Given the description of an element on the screen output the (x, y) to click on. 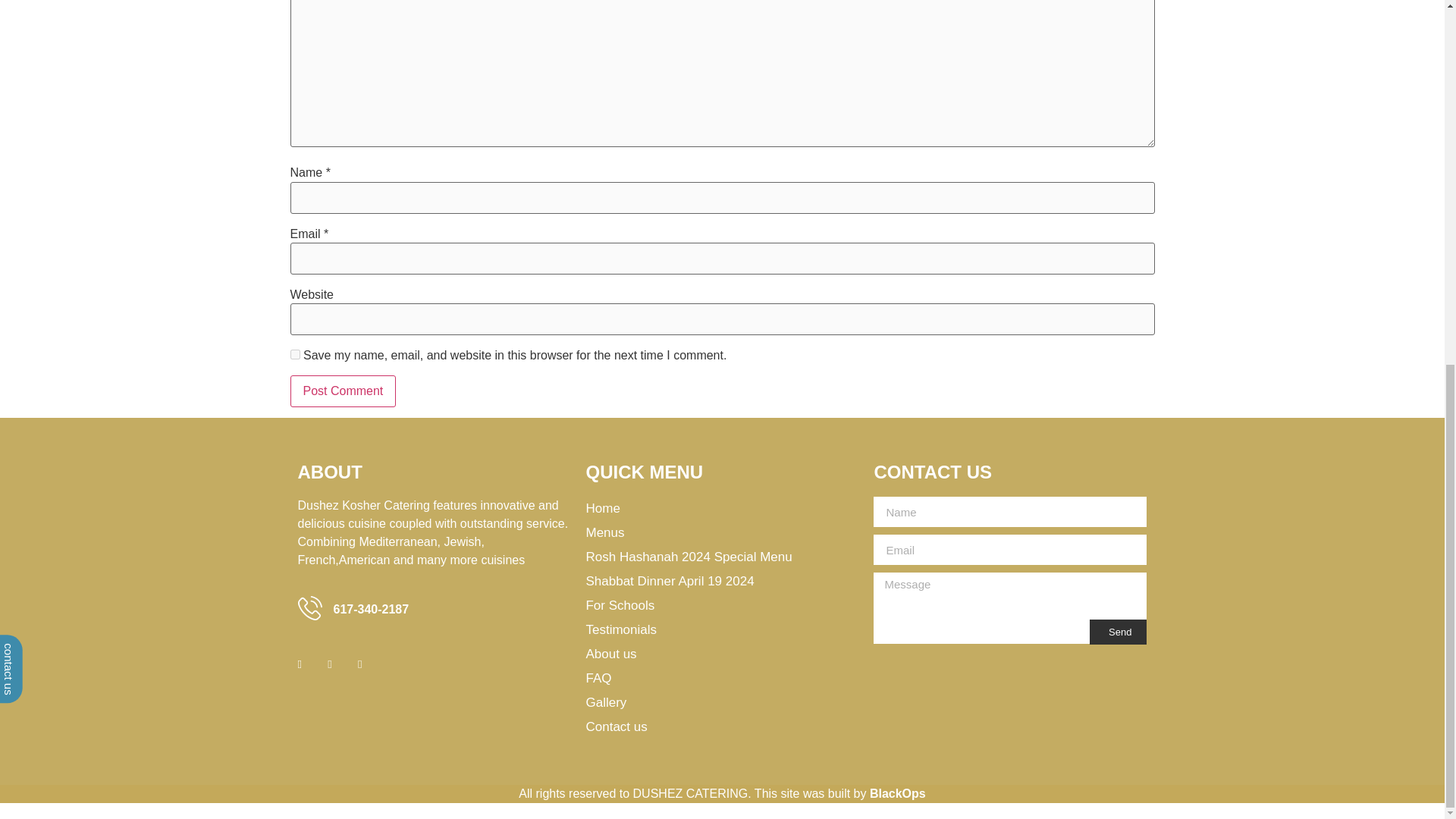
yes (294, 354)
617-340-2187 (371, 608)
Post Comment (342, 391)
Post Comment (342, 391)
